Given the description of an element on the screen output the (x, y) to click on. 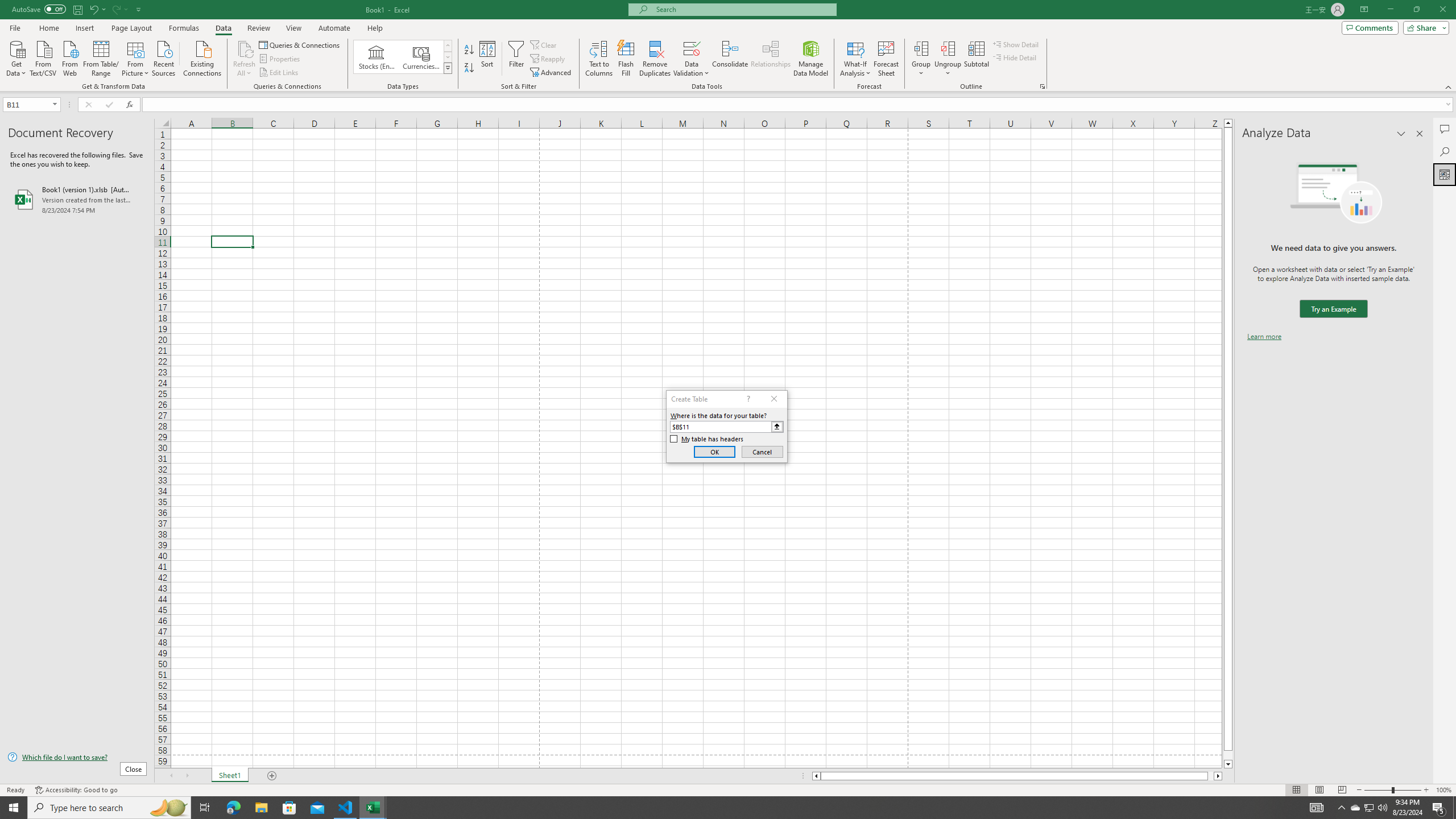
Home (48, 28)
Page Break Preview (1342, 790)
Class: NetUIScrollBar (1016, 775)
Subtotal (976, 58)
Automate (334, 28)
Learn more (1264, 336)
Remove Duplicates (654, 58)
Ribbon Display Options (1364, 9)
View (293, 28)
Group... (921, 58)
Column right (1218, 775)
